Given the description of an element on the screen output the (x, y) to click on. 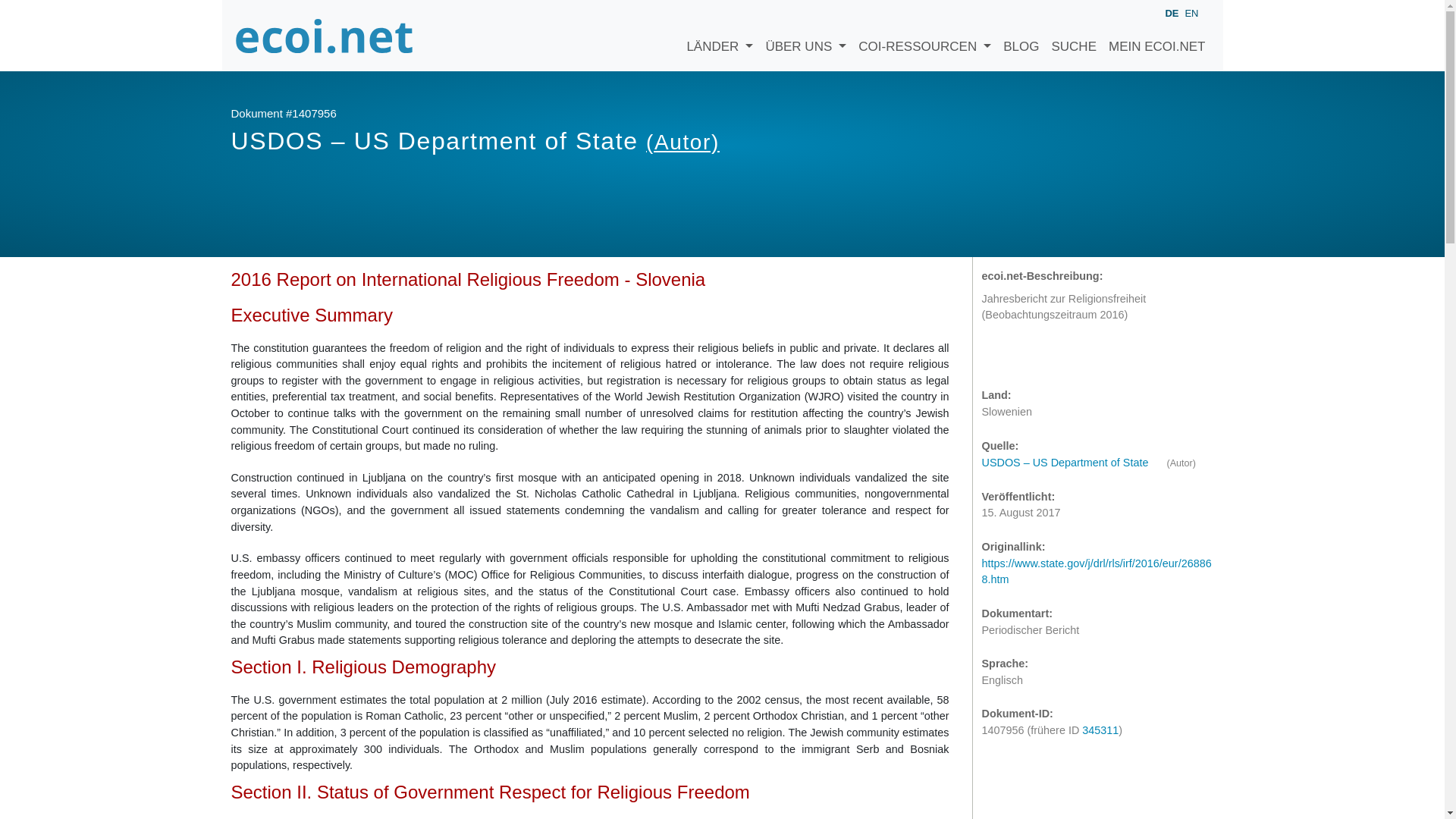
Zitieren als (996, 357)
Permalink (1056, 357)
345311 (1099, 729)
COI-RESSOURCEN (924, 35)
EN (1190, 12)
Zur Startseite von ecoi.net gehen (323, 35)
Deutsch (1170, 13)
SUCHE (1073, 35)
BLOG (1021, 35)
Englisch (1190, 12)
Teilen (1026, 357)
Quellenbeschreibung lesen (1072, 462)
MEIN ECOI.NET (1156, 35)
